Given the description of an element on the screen output the (x, y) to click on. 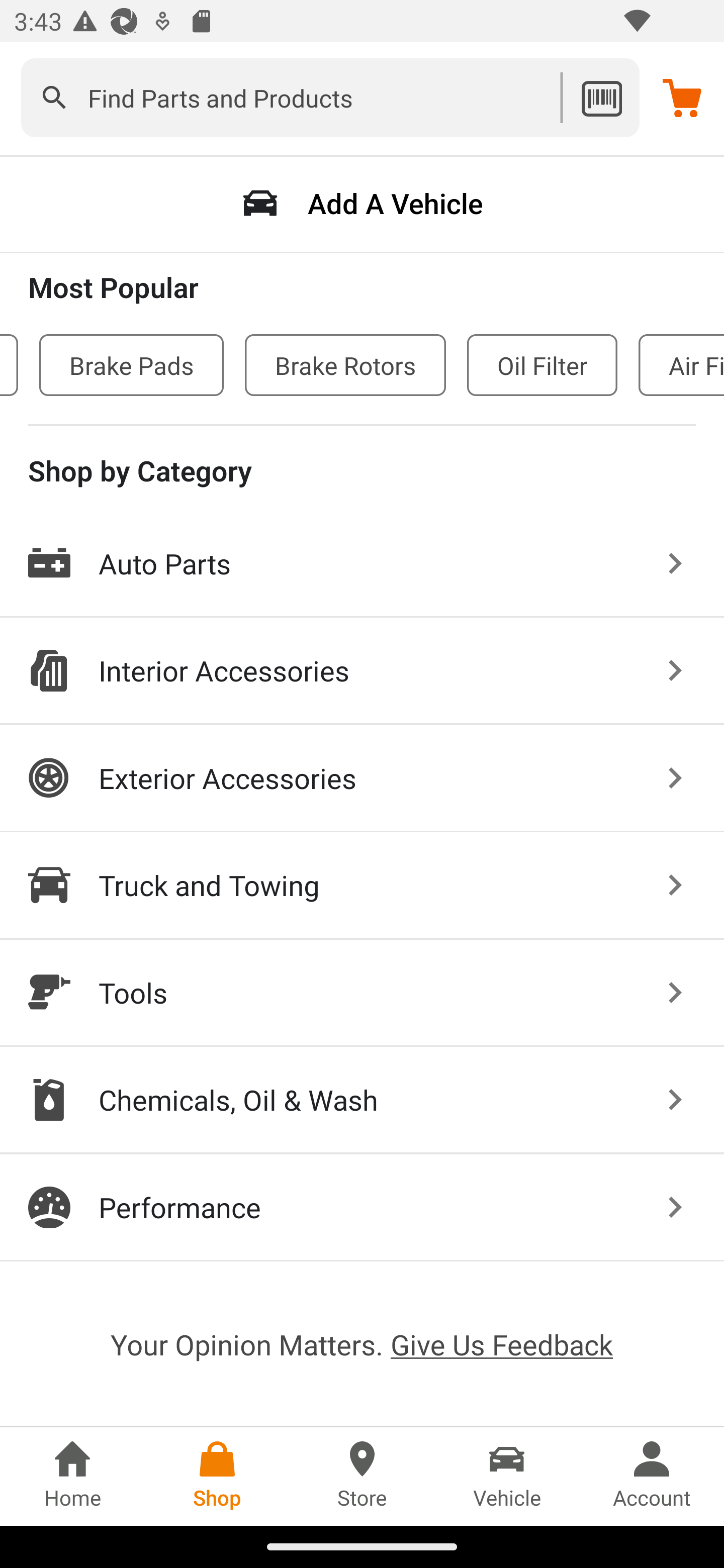
 scan-product-to-search  (601, 97)
 (54, 97)
Cart, no items  (681, 97)
add-vehicle-button  Add A Vehicle (362, 202)
Brake Pads (131, 364)
Brake Rotors (344, 364)
Oil Filter (541, 364)
Auto Parts category  Auto Parts  (362, 564)
Truck and Towing category  Truck and Towing  (362, 885)
Tools category  Tools  (362, 993)
Performance category  Performance  (362, 1207)
Home (72, 1475)
Shop (216, 1475)
Store (361, 1475)
Vehicle (506, 1475)
Account (651, 1475)
